Given the description of an element on the screen output the (x, y) to click on. 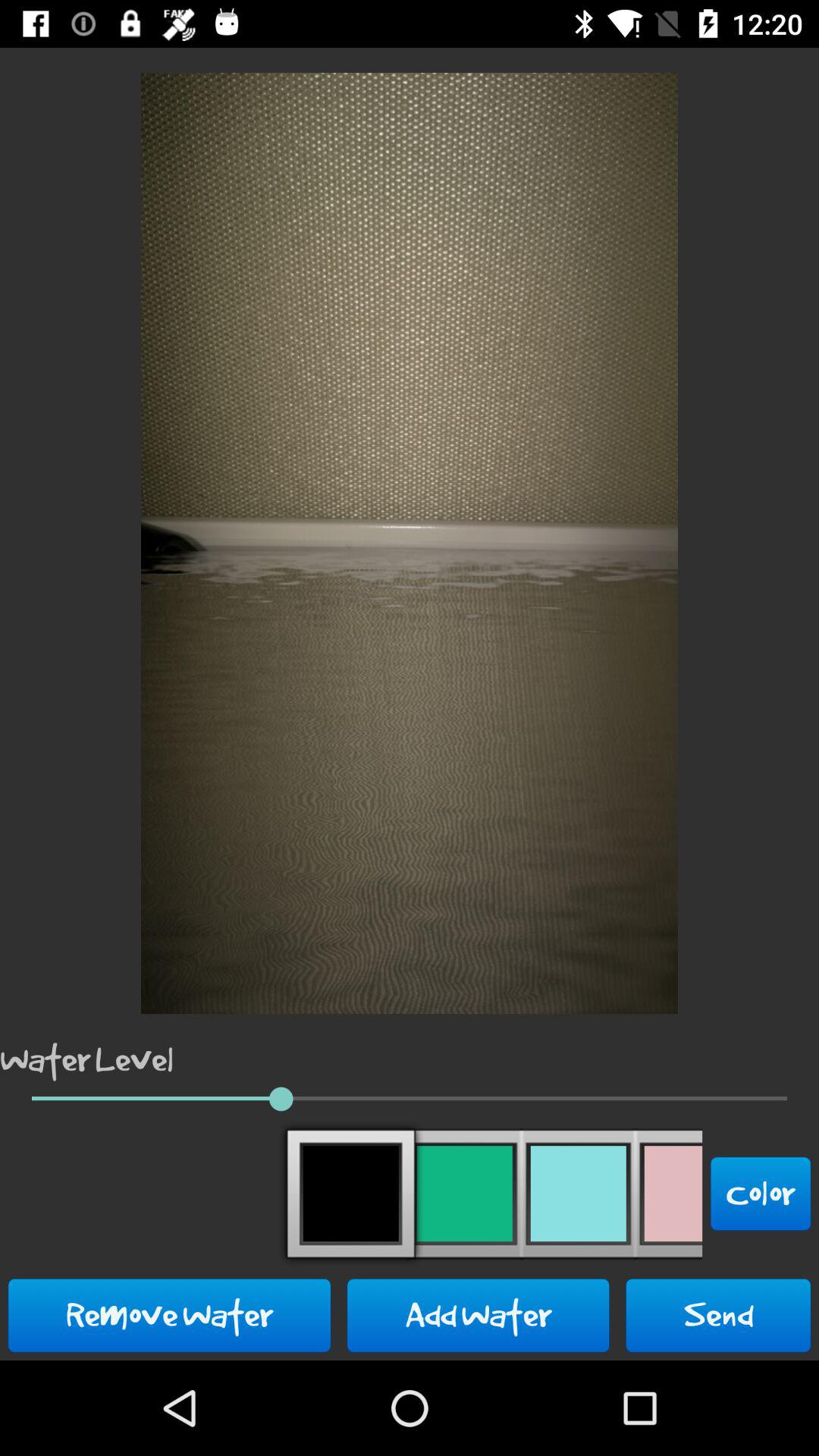
flip until color item (760, 1193)
